Given the description of an element on the screen output the (x, y) to click on. 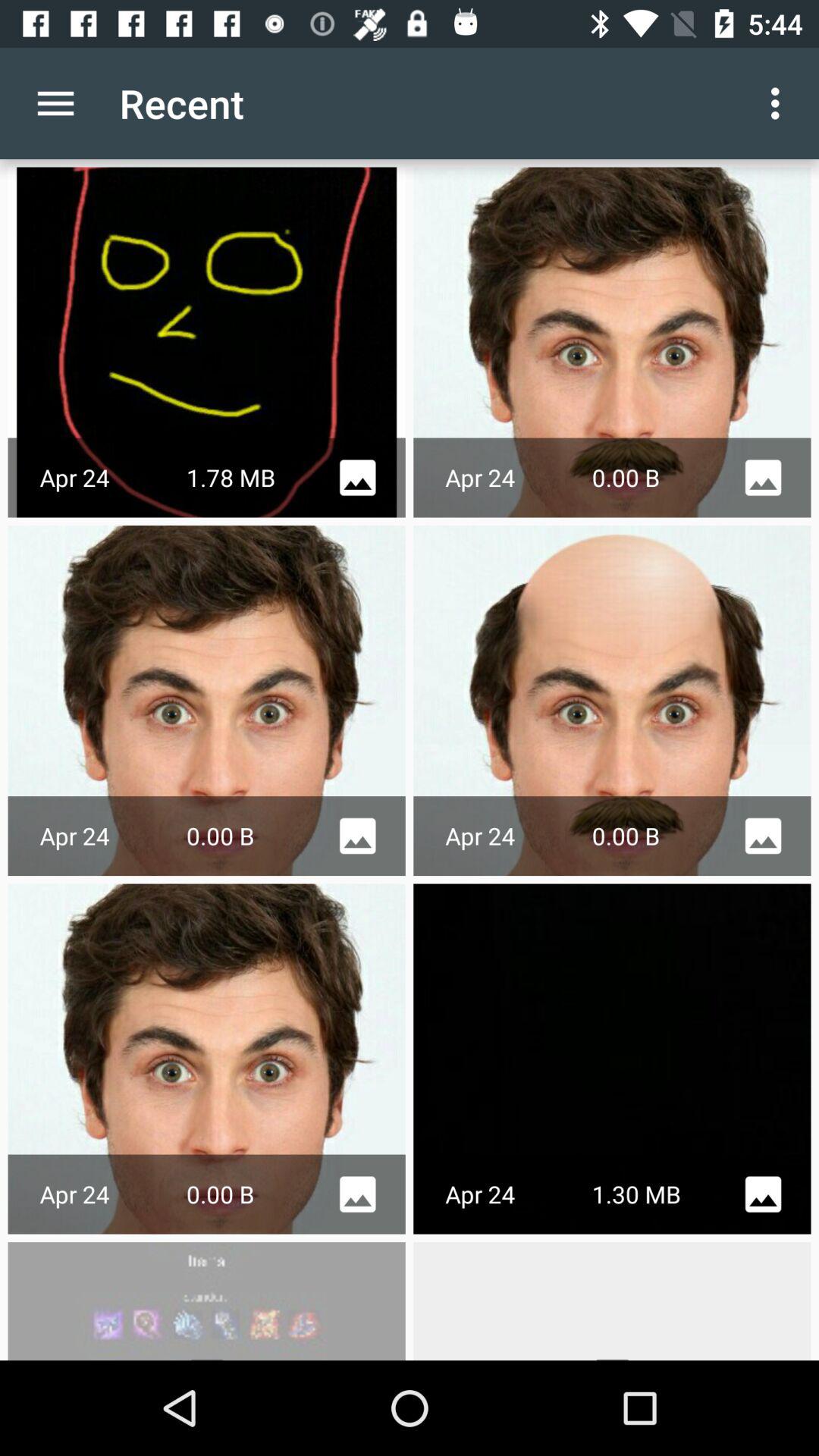
open app to the left of the recent item (55, 103)
